Given the description of an element on the screen output the (x, y) to click on. 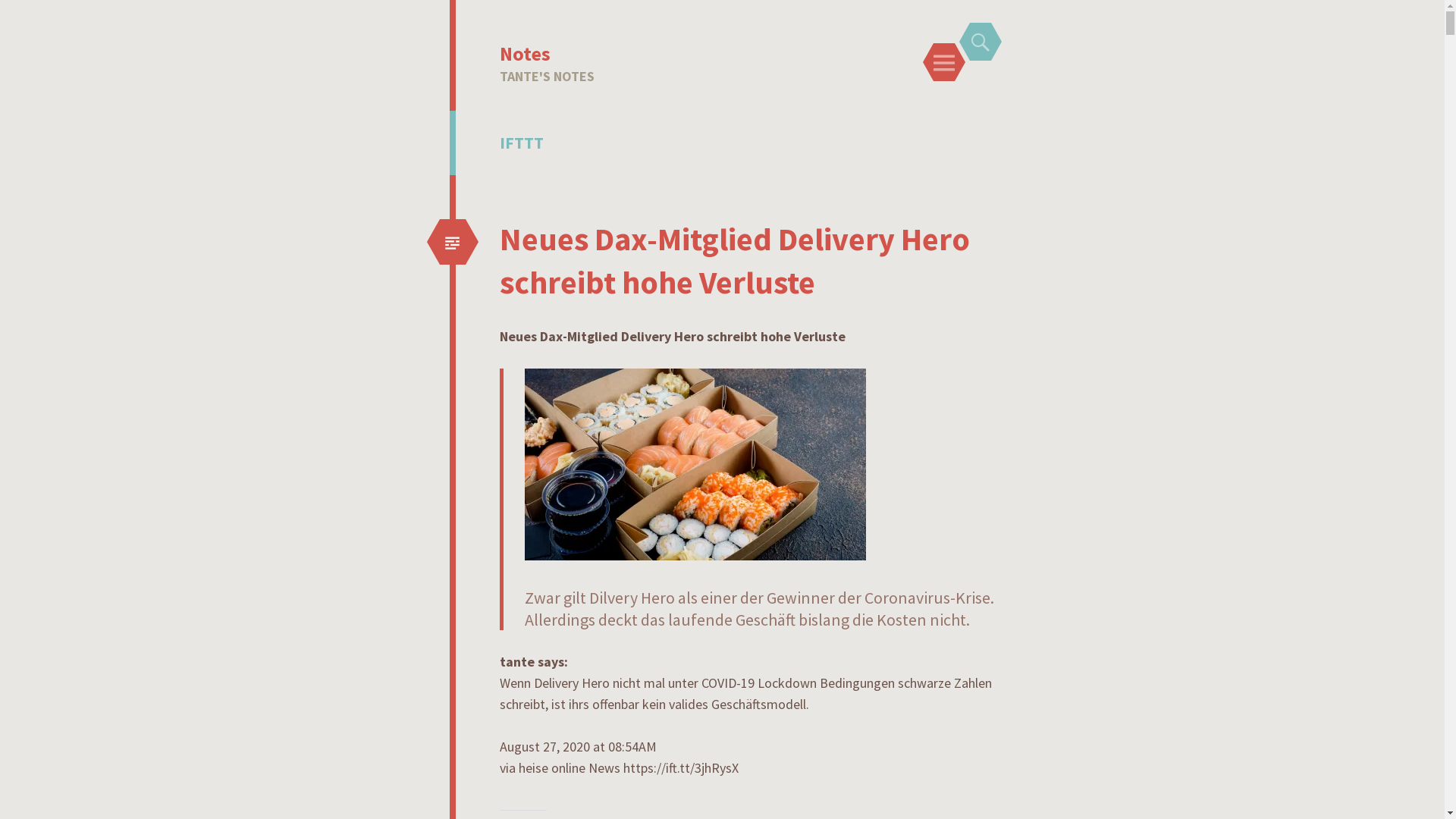
Notes Element type: text (523, 52)
Neues Dax-Mitglied Delivery Hero schreibt hohe Verluste Element type: text (733, 260)
